Given the description of an element on the screen output the (x, y) to click on. 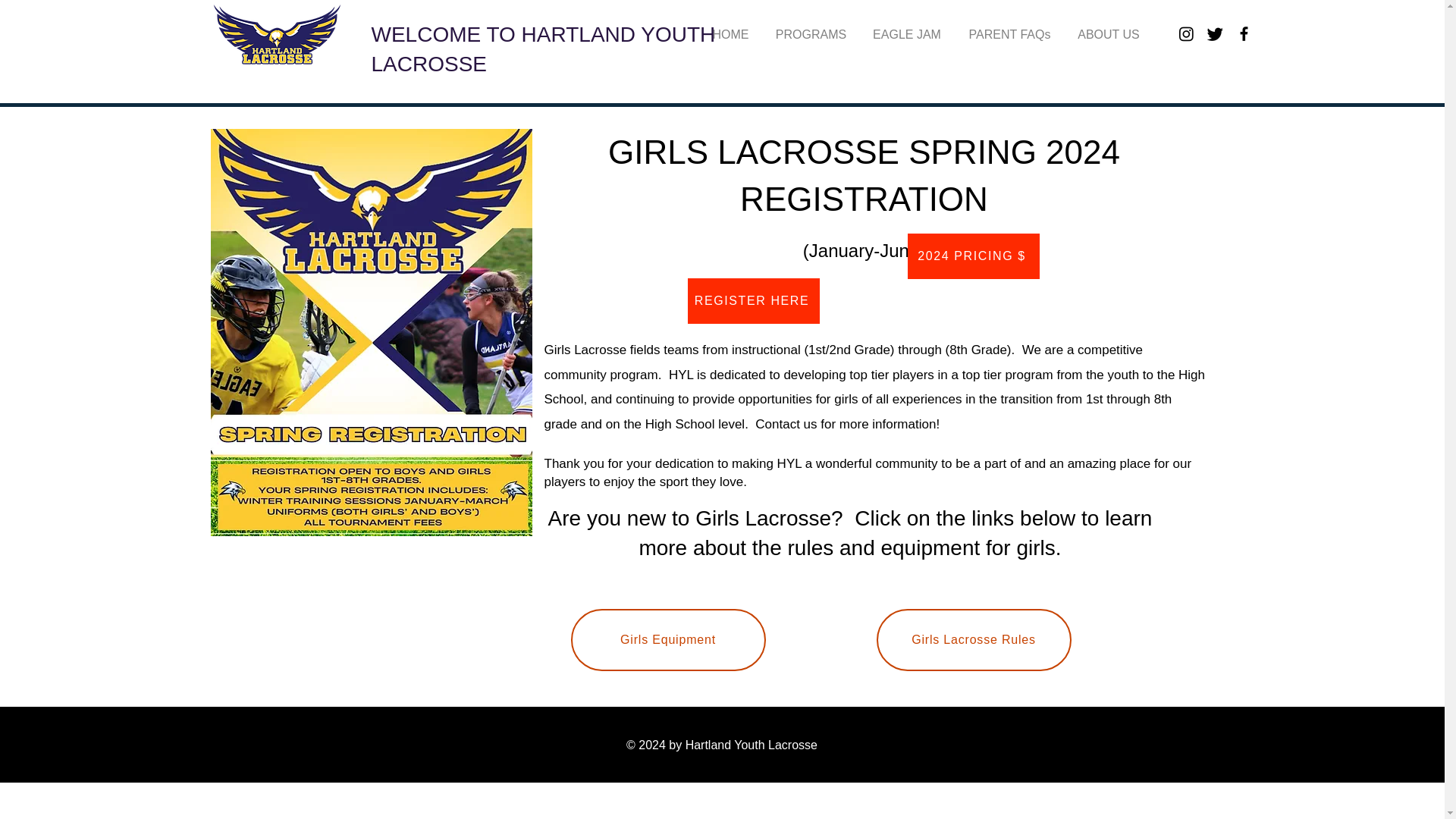
Girls Equipment (667, 639)
REGISTER HERE (752, 300)
HOME (729, 34)
Girls Lacrosse Rules (973, 639)
